Given the description of an element on the screen output the (x, y) to click on. 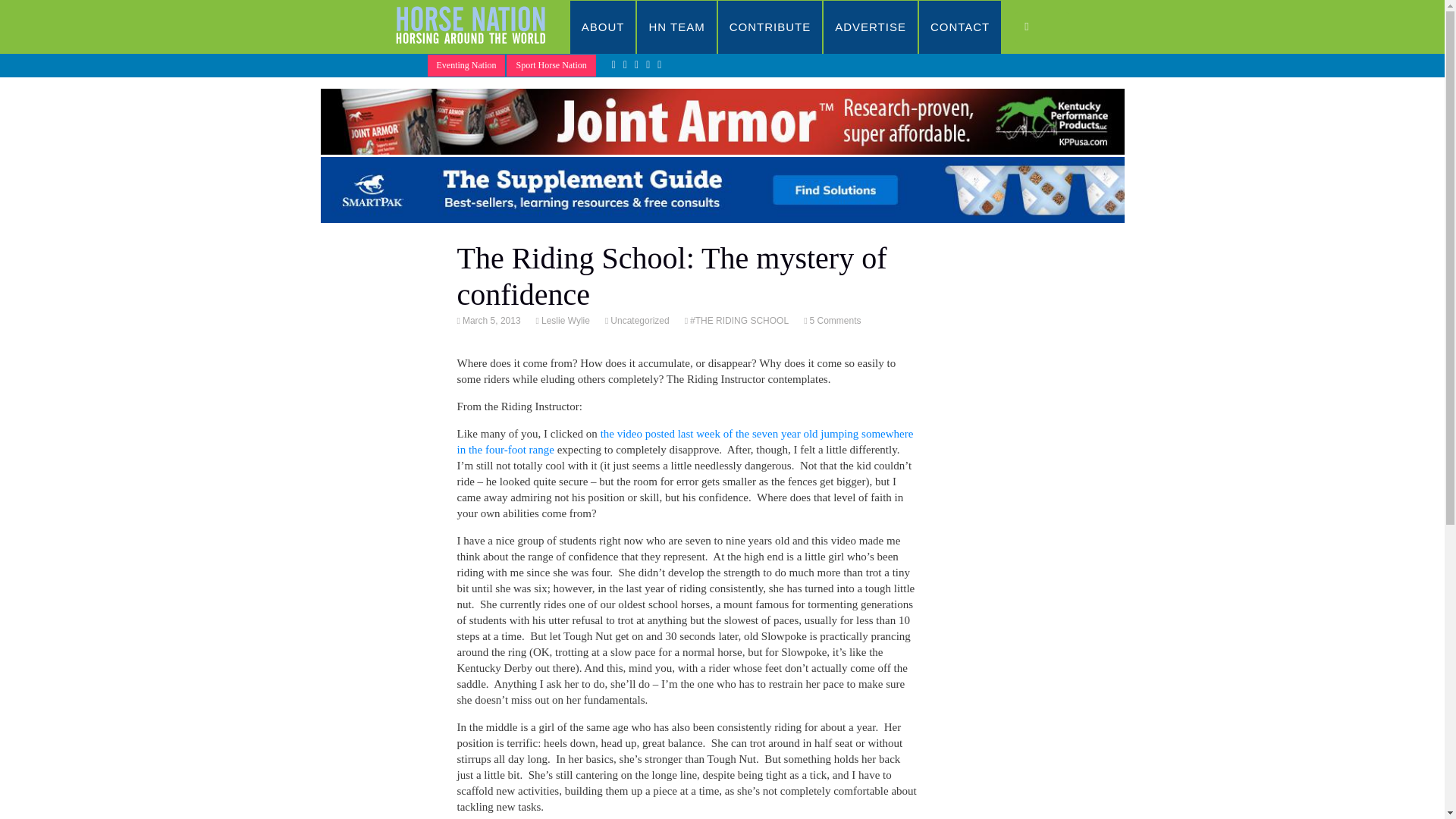
HN TEAM (676, 27)
Uncategorized (638, 320)
Eventing Nation (466, 65)
View all posts by Leslie Wylie (563, 320)
5 Comments (834, 320)
SEARCH (1041, 27)
CONTACT (959, 27)
Permalink to The Riding School: The mystery of confidence (490, 320)
March 5, 2013 (490, 320)
Sport Horse Nation (550, 65)
CONTRIBUTE (769, 27)
ABOUT (603, 27)
Leslie Wylie (563, 320)
ADVERTISE (870, 27)
